Given the description of an element on the screen output the (x, y) to click on. 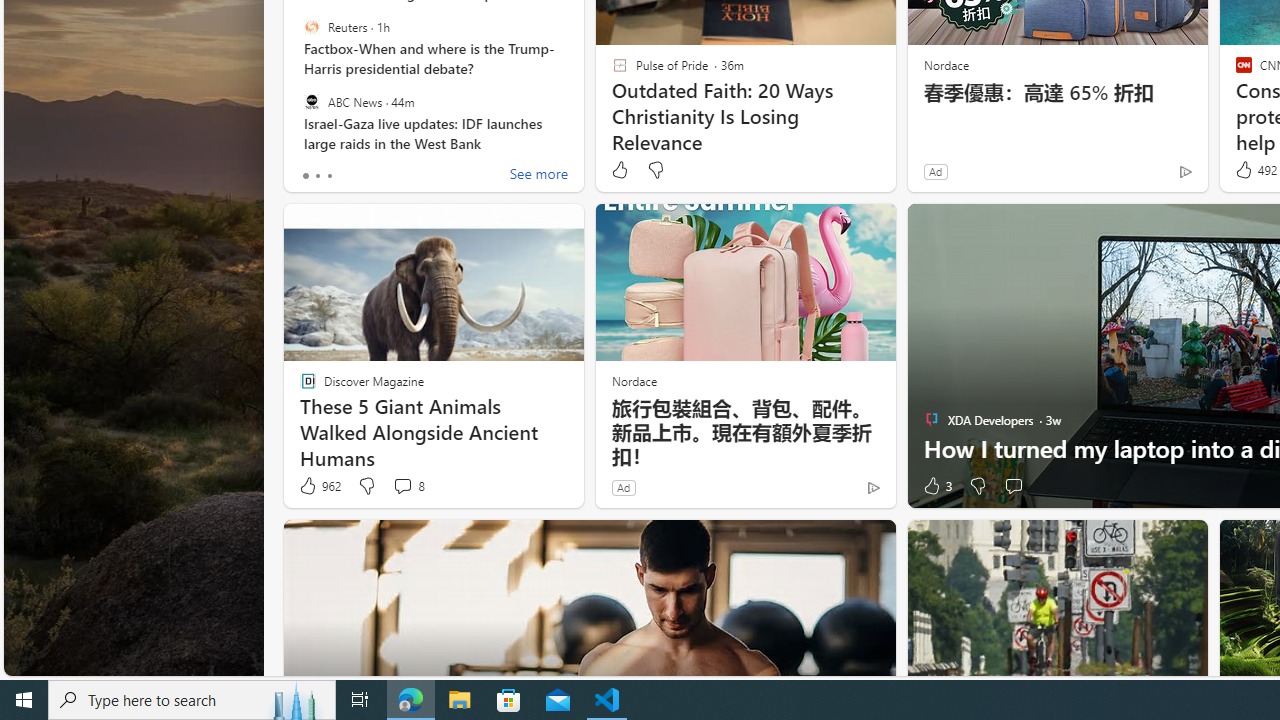
3 Like (936, 485)
Reuters (311, 27)
View comments 8 Comment (402, 485)
ABC News (311, 101)
tab-0 (305, 175)
tab-2 (328, 175)
